Given the description of an element on the screen output the (x, y) to click on. 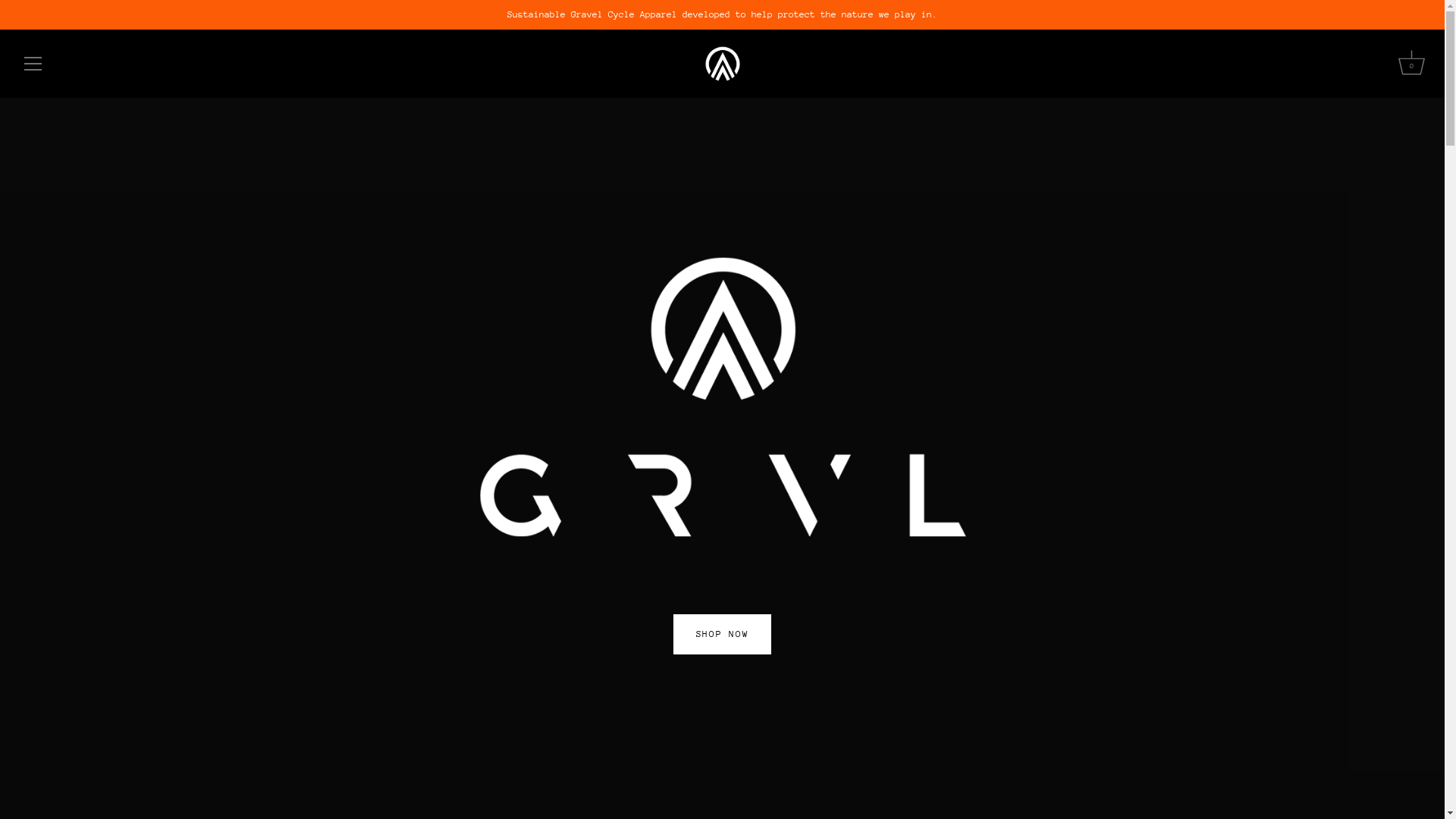
0 Element type: text (1410, 65)
SHOP NOW Element type: text (722, 633)
